Given the description of an element on the screen output the (x, y) to click on. 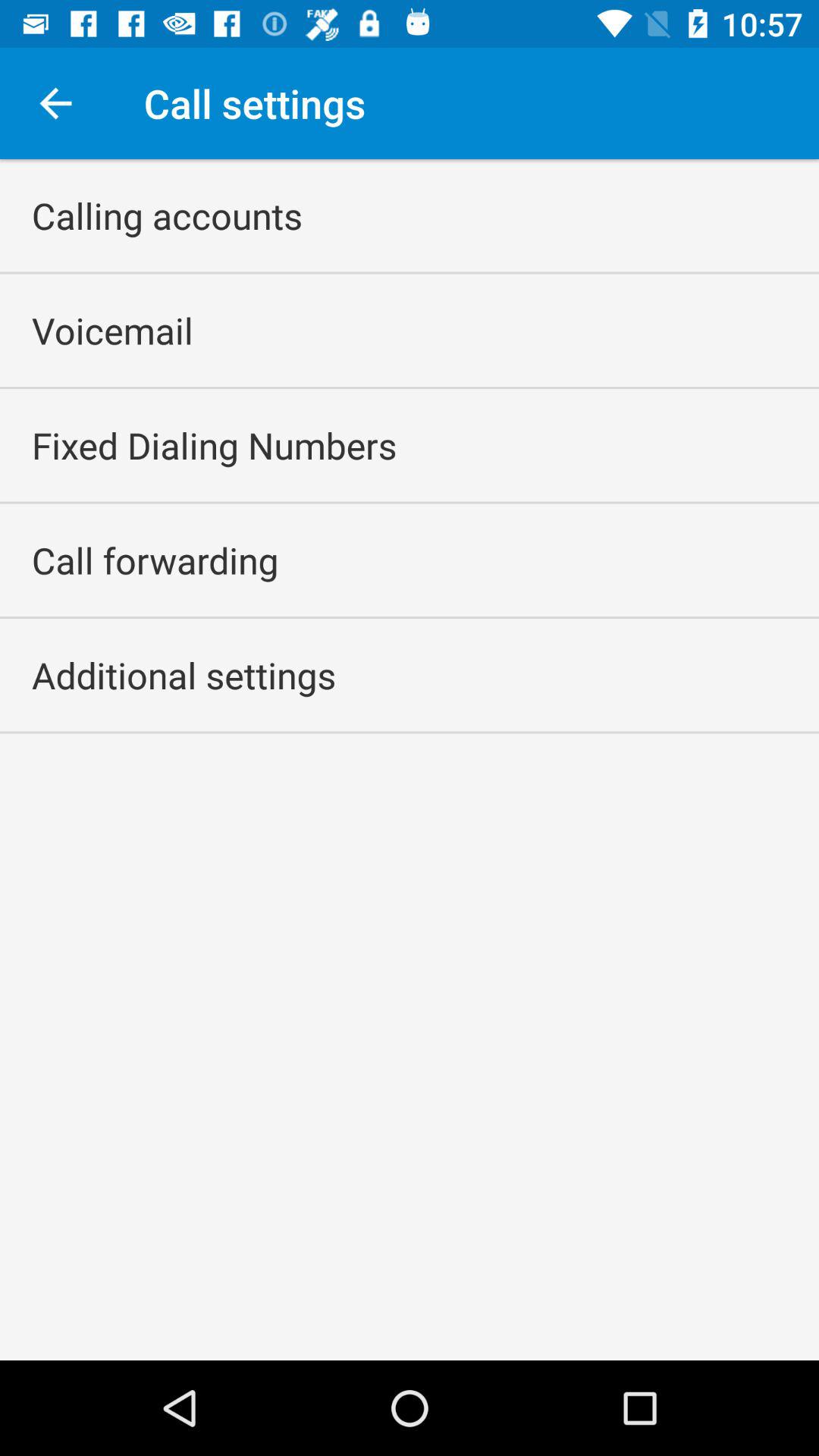
choose the item above the additional settings item (154, 559)
